Given the description of an element on the screen output the (x, y) to click on. 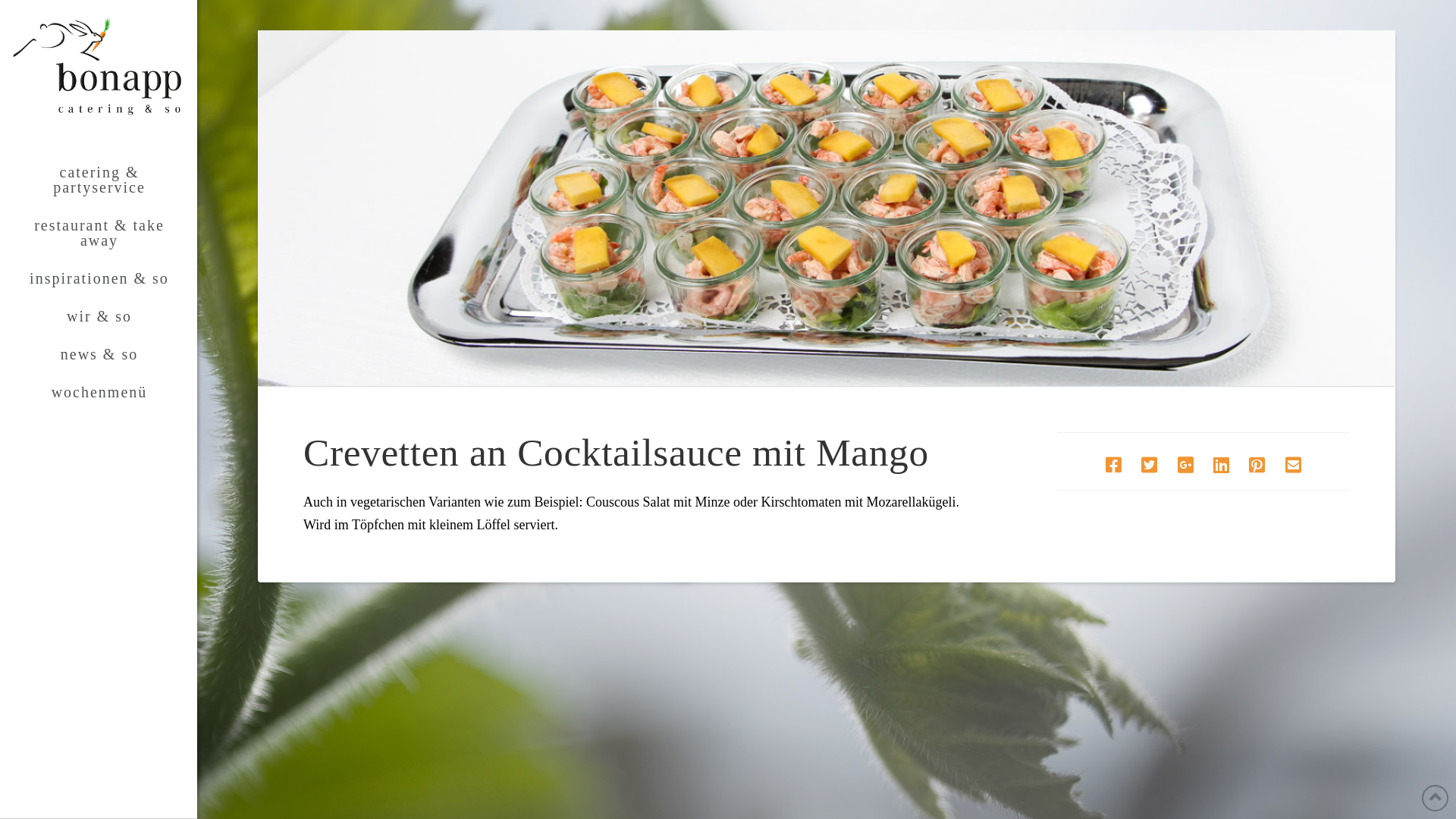
news & so Element type: text (98, 354)
inspirationen & so Element type: text (98, 278)
catering & partyservice Element type: text (98, 179)
Back to Top Element type: hover (1434, 797)
Share via Email Element type: hover (1293, 465)
wir & so Element type: text (98, 316)
restaurant & take away Element type: text (98, 232)
